Given the description of an element on the screen output the (x, y) to click on. 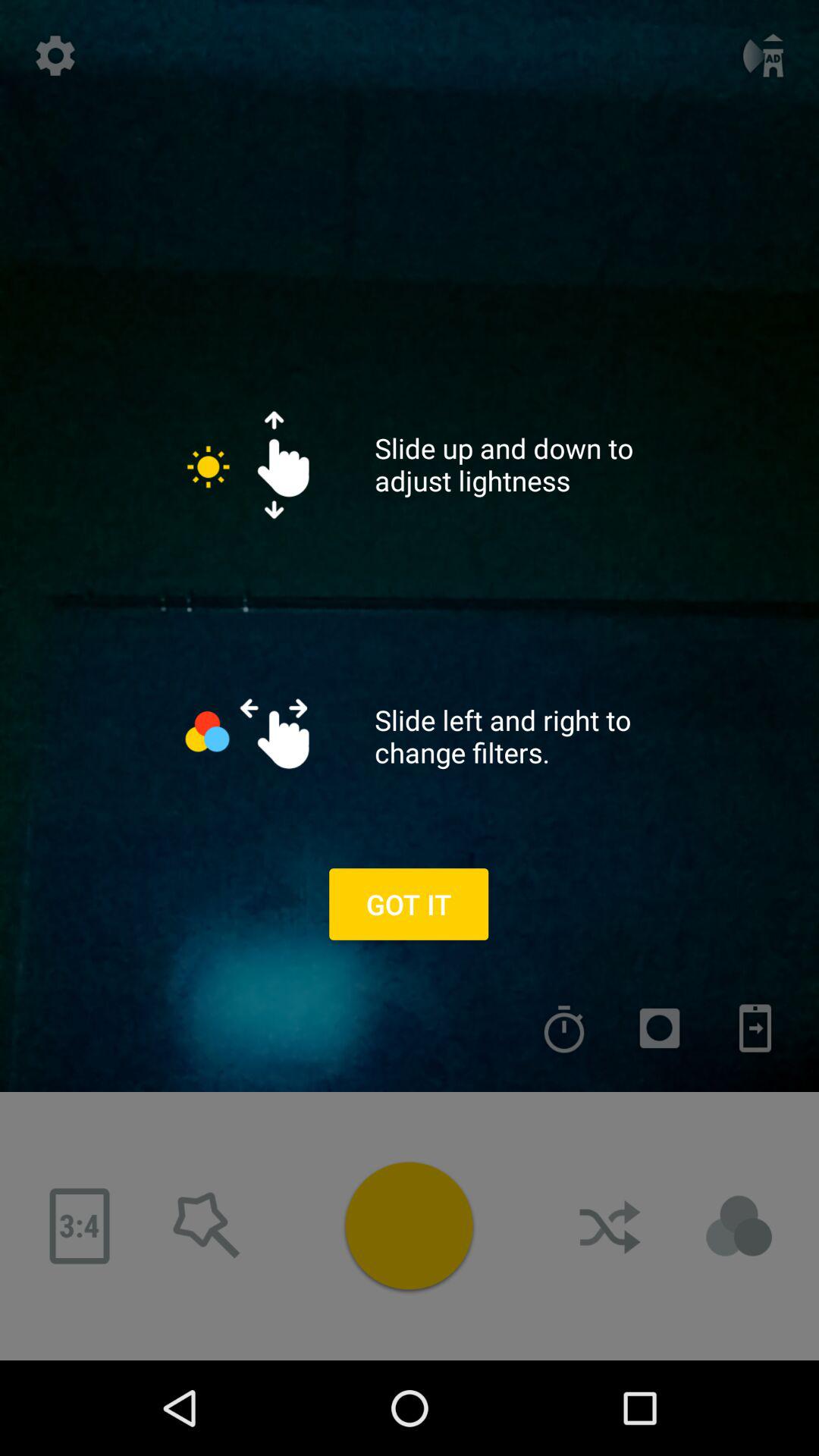
shuffle (611, 1226)
